Given the description of an element on the screen output the (x, y) to click on. 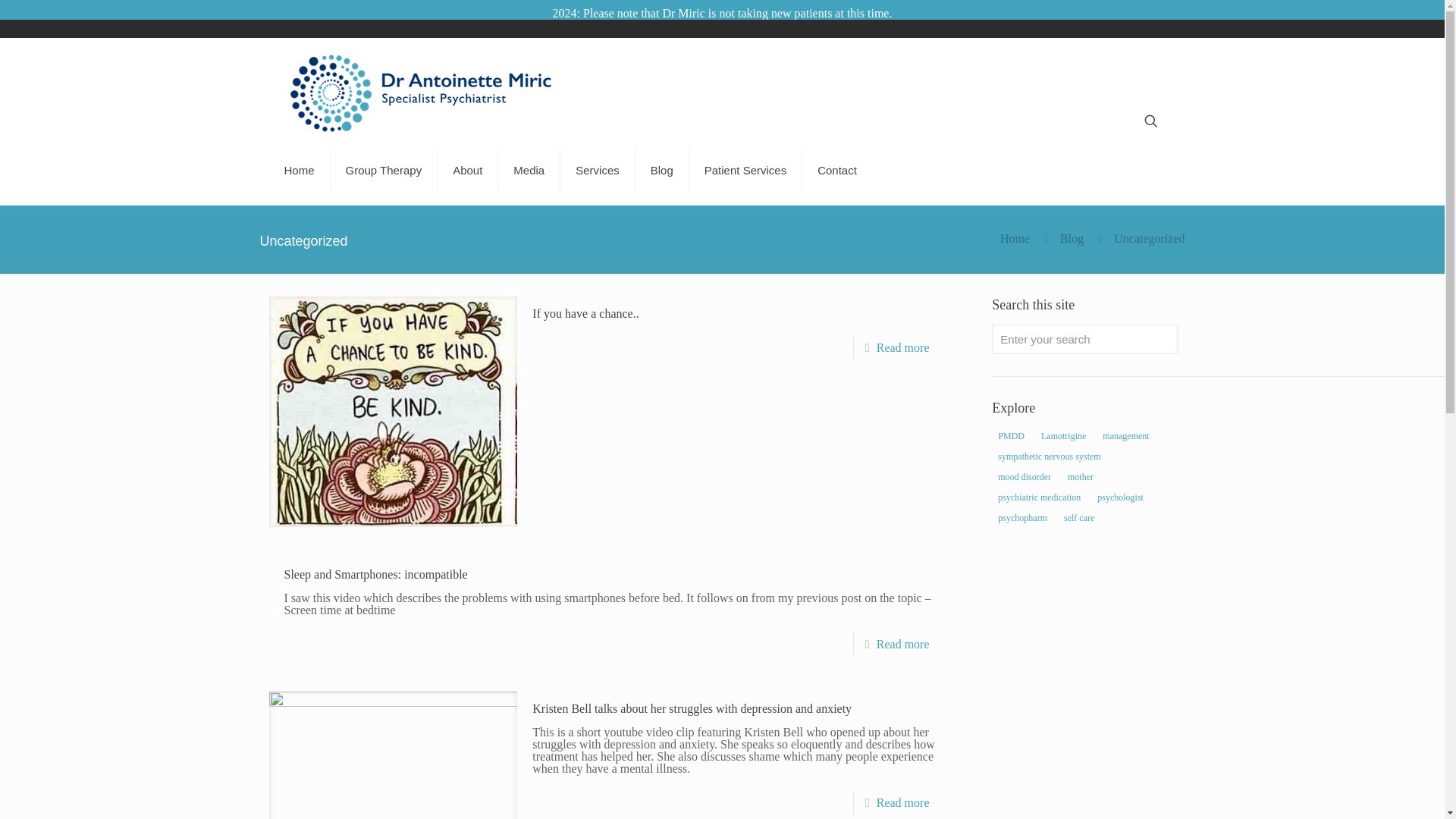
Home (298, 170)
Contact (837, 170)
Uncategorized (1149, 237)
Blog (1071, 237)
Patient Services (745, 170)
Home (1014, 237)
Group Therapy (384, 170)
About (467, 170)
Media (528, 170)
Services (597, 170)
Dr Antoinette Miric (422, 92)
